Given the description of an element on the screen output the (x, y) to click on. 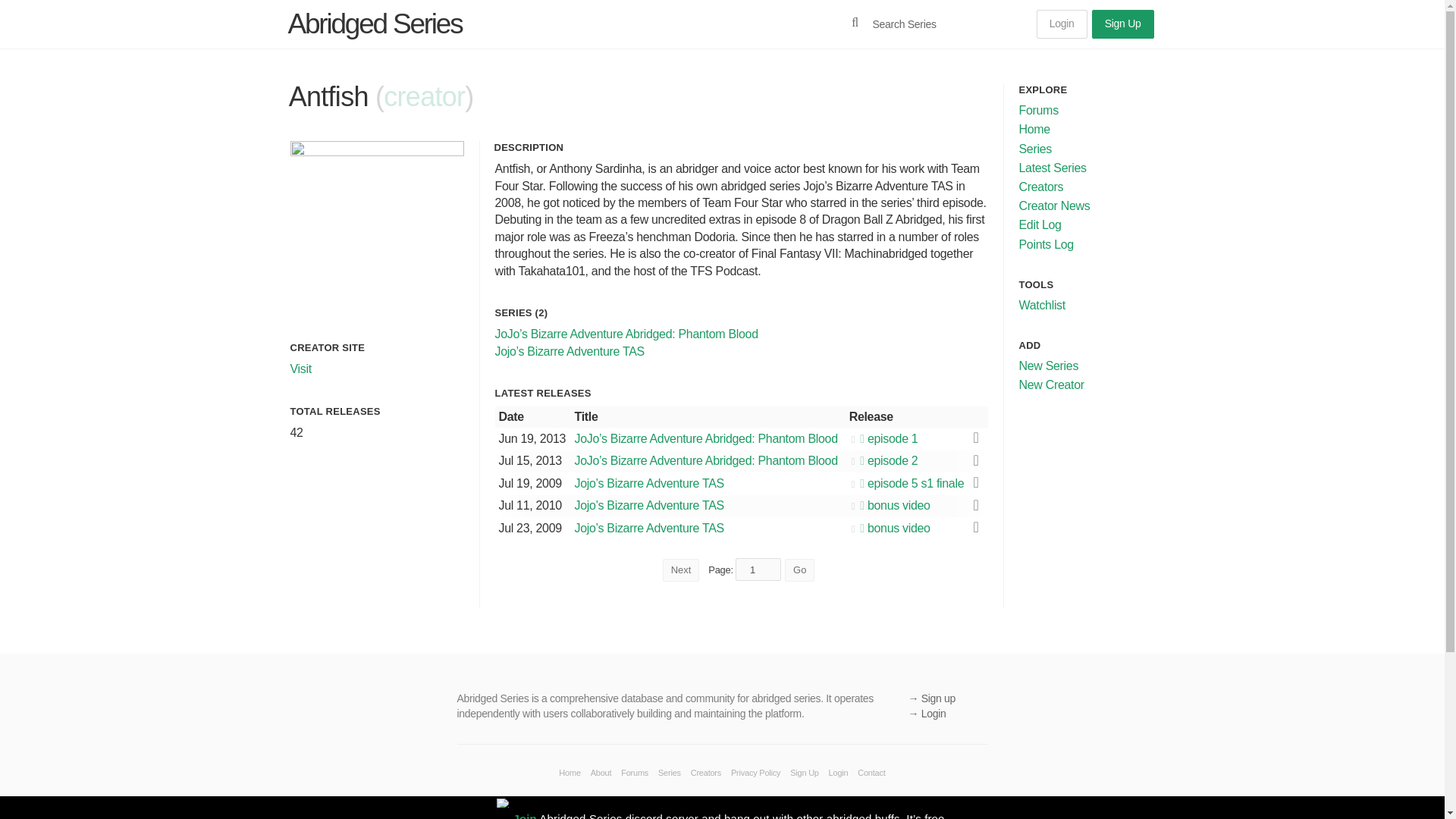
Bookmark it (976, 482)
Release Information (852, 460)
Release Information (852, 438)
Login (1061, 23)
15 years ago (530, 482)
Bookmark it (976, 438)
episode 2 (892, 460)
AbridgedSeries.com (375, 23)
Sign Up (1123, 23)
11 years ago (530, 460)
Visit (300, 368)
Abridged Series (375, 23)
14 years ago (530, 504)
Home (1034, 128)
episode 1 (892, 439)
